Given the description of an element on the screen output the (x, y) to click on. 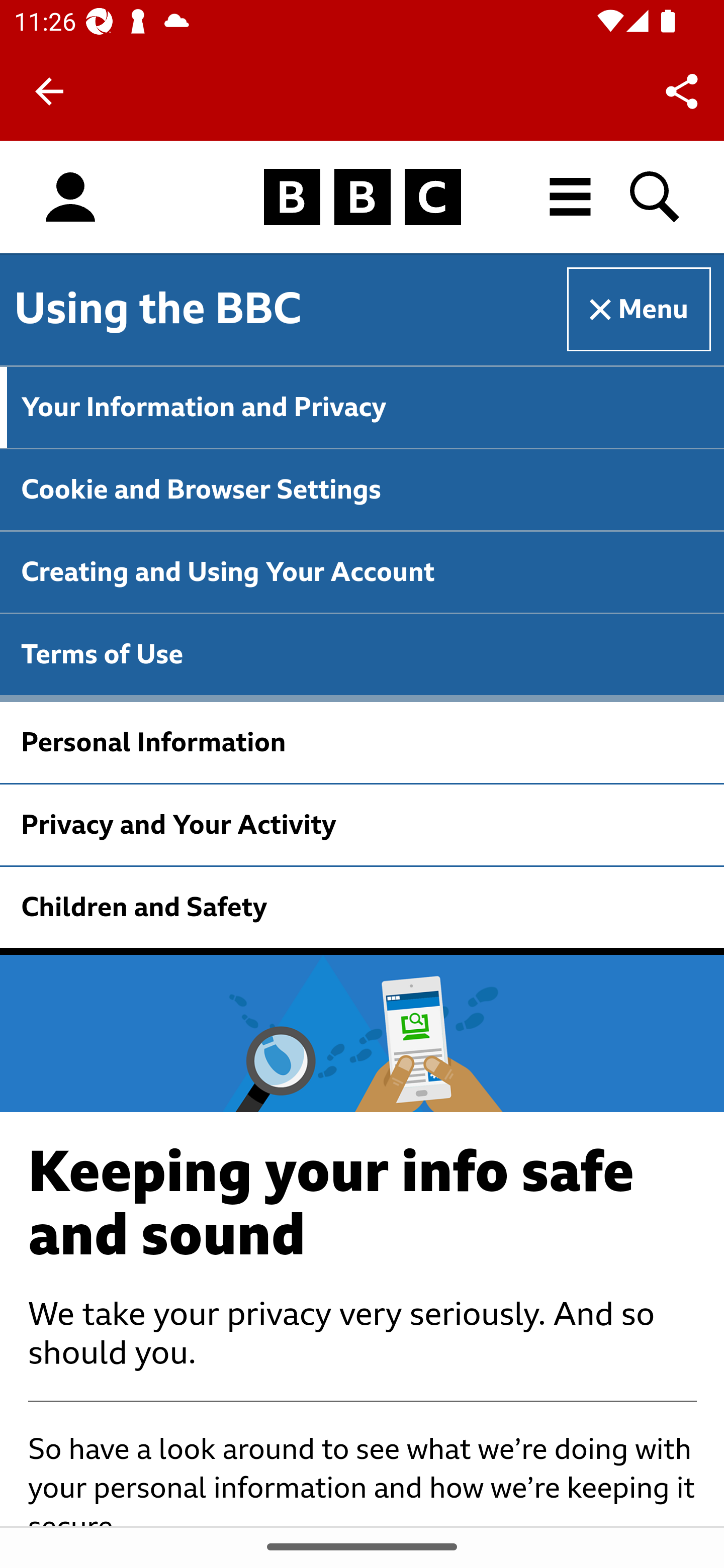
Back (49, 91)
Share (681, 90)
All BBC destinations menu (570, 197)
Search BBC (655, 197)
Sign in (70, 198)
Homepage (361, 198)
Menu (639, 309)
Using the BBC (157, 307)
Your Information and Privacy (362, 406)
Cookie and Browser Settings (362, 489)
Creating and Using Your Account (362, 572)
Terms of Use (362, 654)
Personal Information (362, 742)
Privacy and Your Activity (362, 825)
Children and Safety (362, 906)
